Given the description of an element on the screen output the (x, y) to click on. 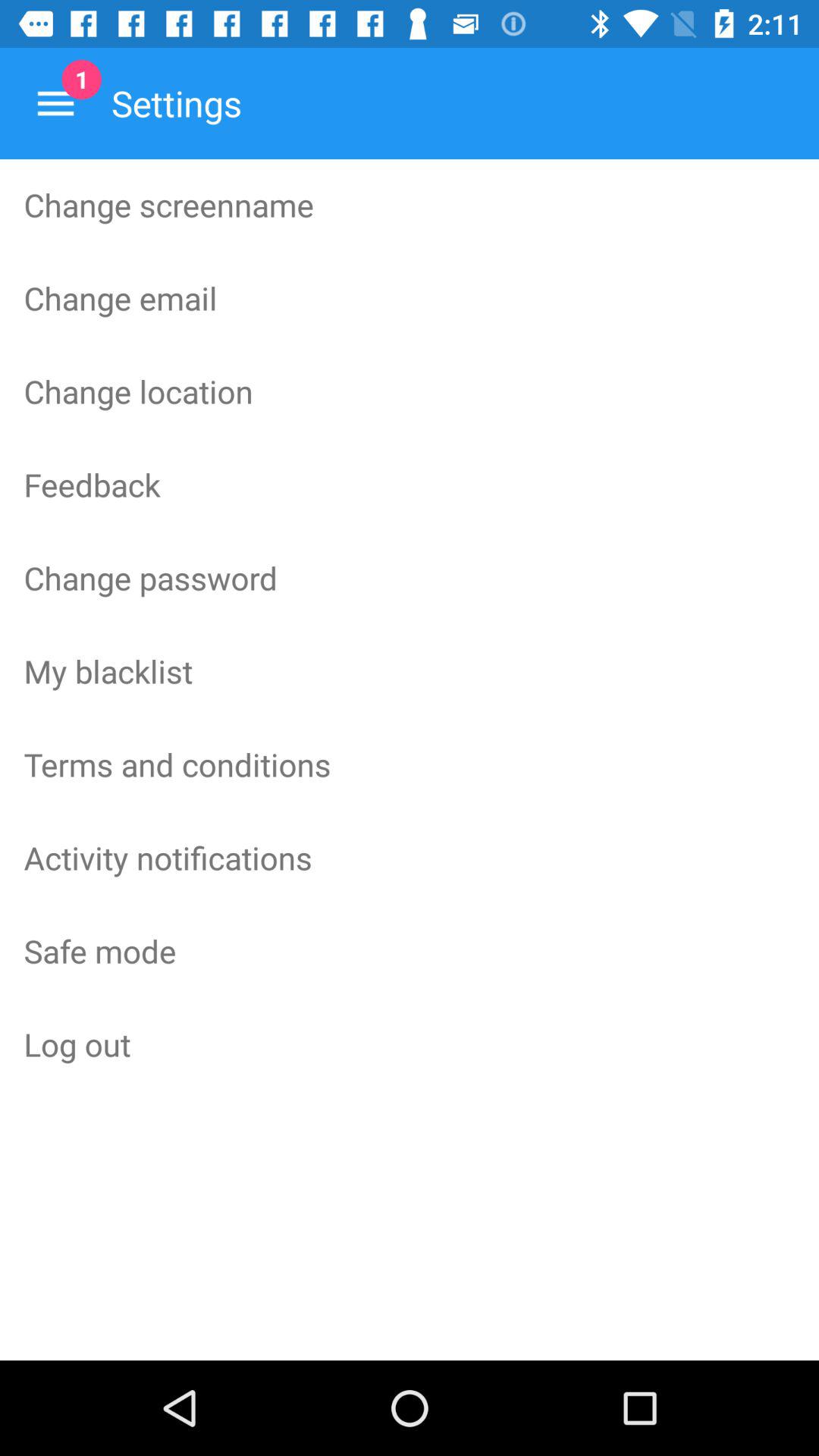
tap icon above the feedback item (409, 390)
